Given the description of an element on the screen output the (x, y) to click on. 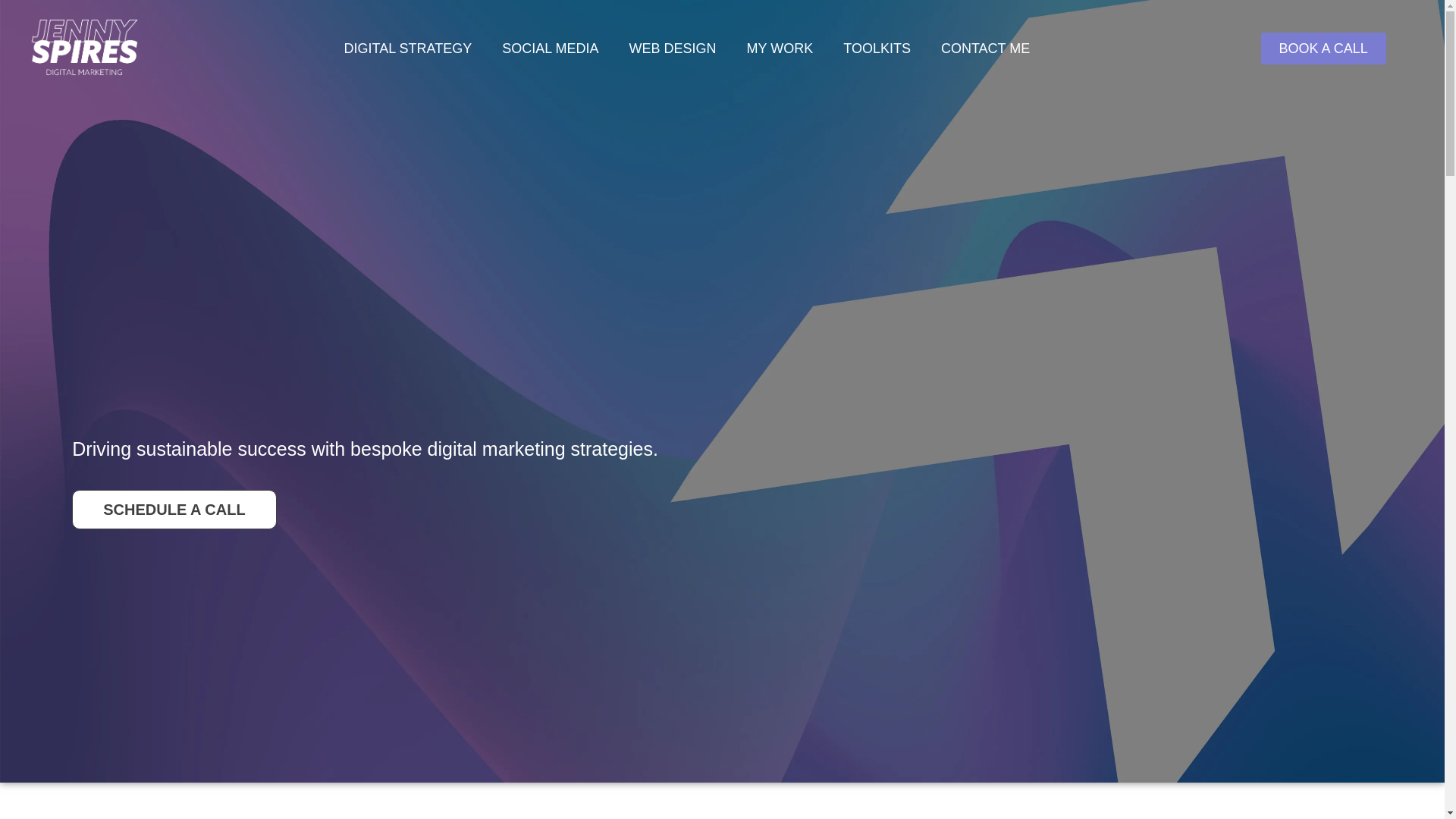
CONTACT ME (985, 48)
TOOLKITS (877, 48)
MY WORK (780, 48)
BOOK A CALL (1323, 48)
WEB DESIGN (673, 48)
SOCIAL MEDIA (549, 48)
DIGITAL STRATEGY (407, 48)
SCHEDULE A CALL (173, 509)
